Given the description of an element on the screen output the (x, y) to click on. 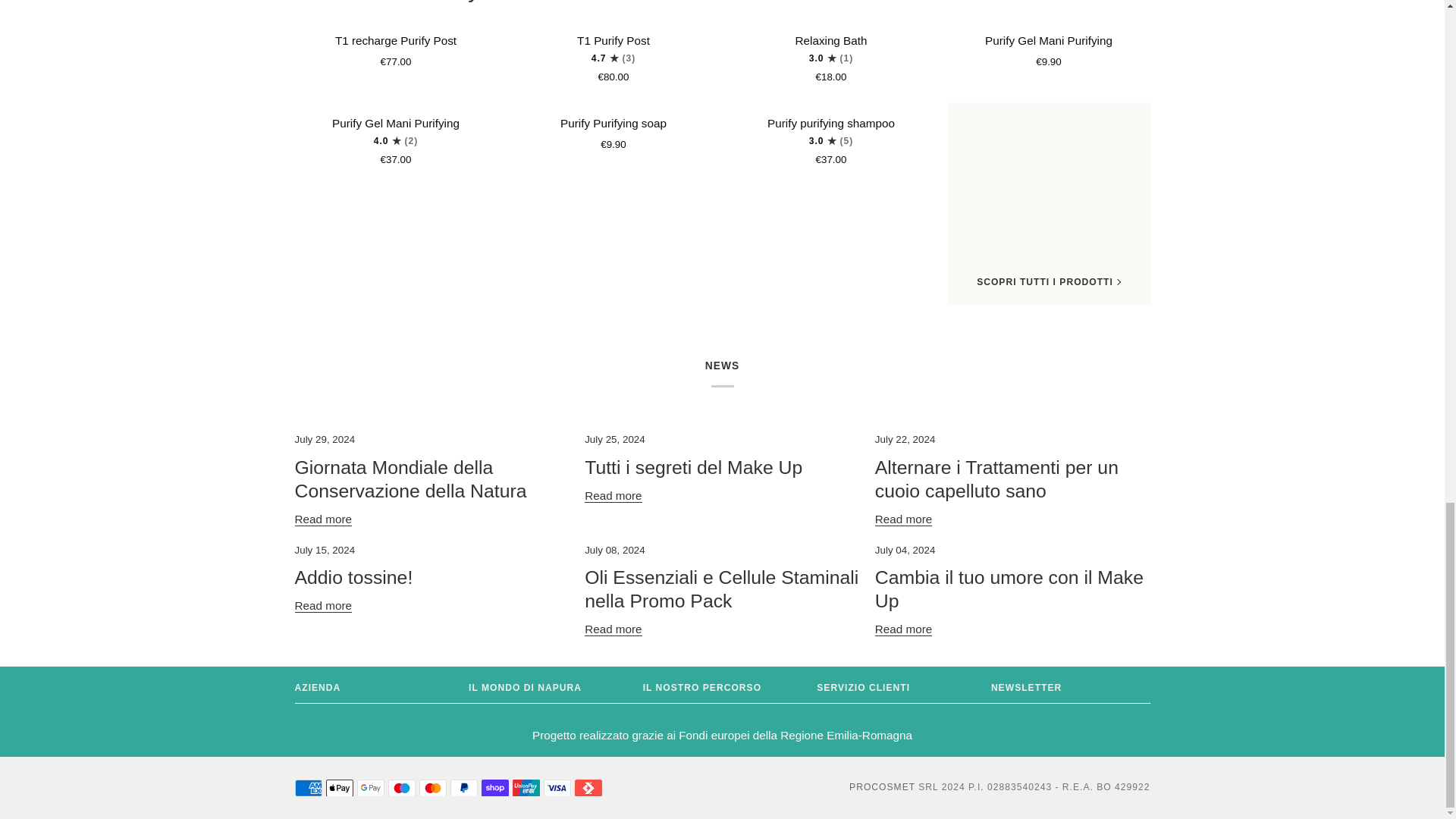
Browse our Australian Niaouly Essential Oil collection (453, 2)
SHOP PAY (494, 787)
APPLE PAY (339, 787)
AMERICAN EXPRESS (307, 787)
UNION PAY (526, 787)
MAESTRO (401, 787)
PAYPAL (463, 787)
VISA (556, 787)
Browse our Australian Niaouly Essential Oil collection (1078, 0)
GOOGLE PAY (370, 787)
